Given the description of an element on the screen output the (x, y) to click on. 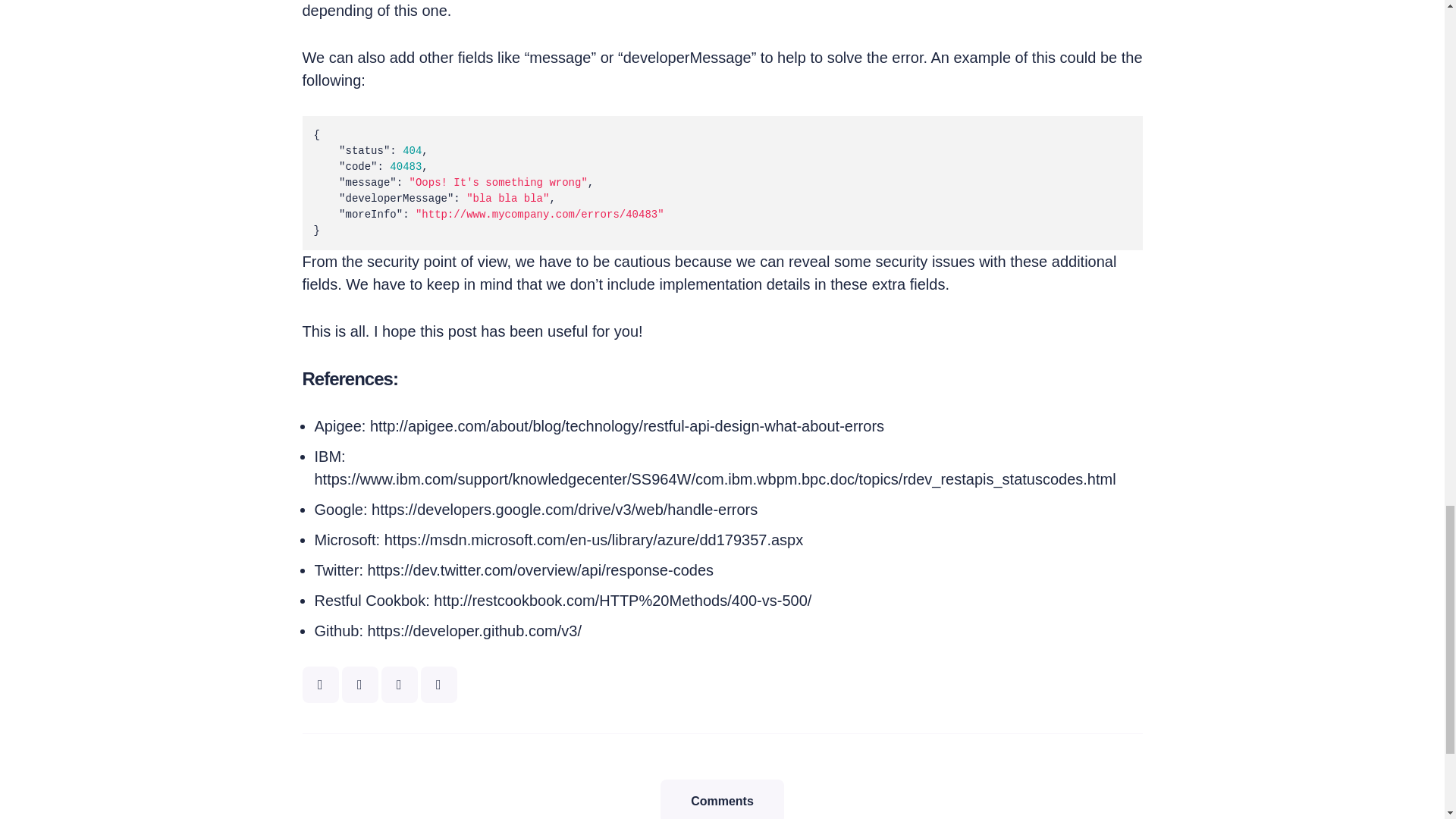
Share on Facebook (358, 684)
Share on Twitter (319, 684)
Share on Pinterest (398, 684)
Comments (722, 799)
Share on LinkedIn (438, 684)
